Given the description of an element on the screen output the (x, y) to click on. 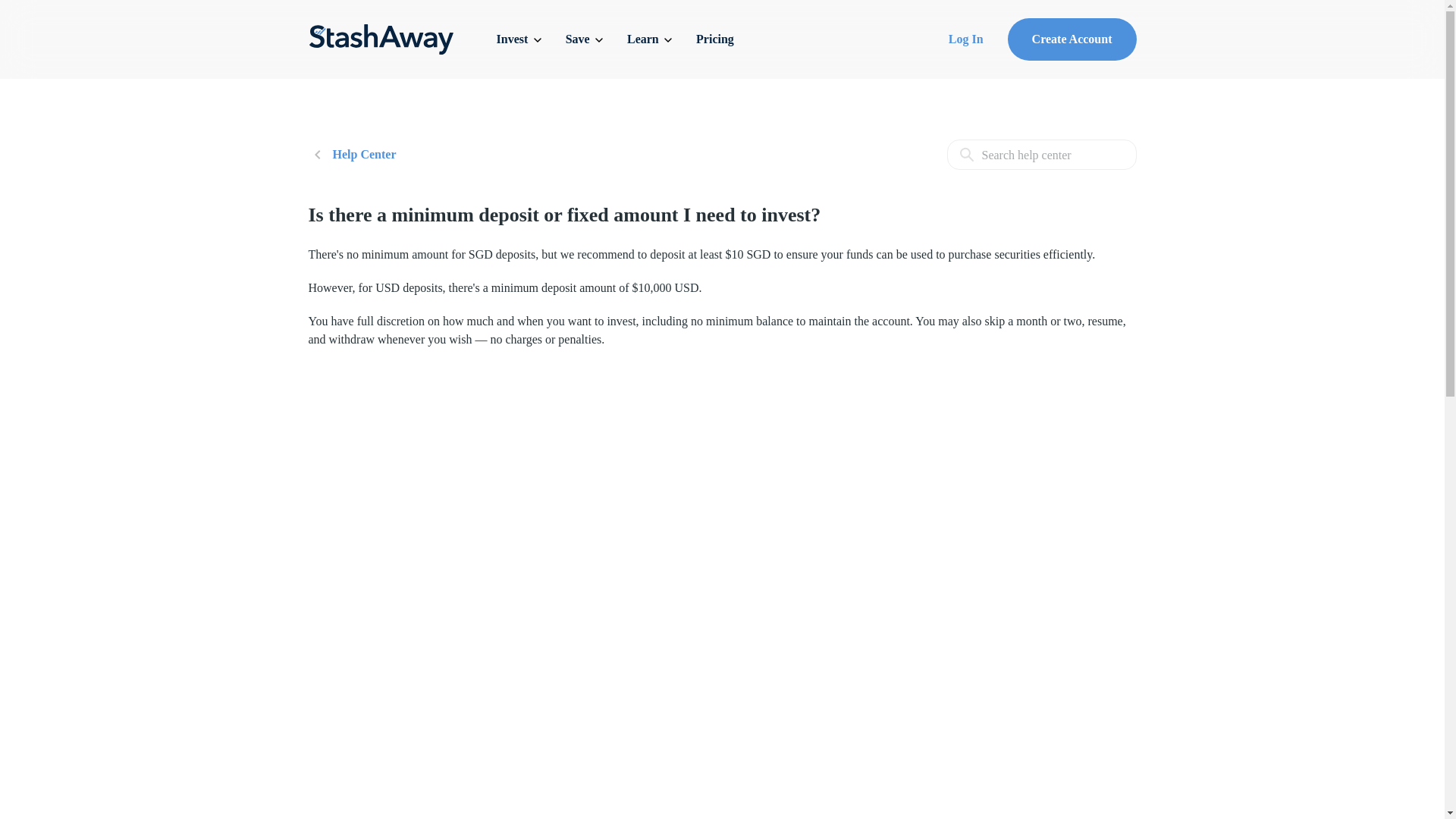
Create Account (1072, 39)
Help Center (351, 154)
Pricing (714, 38)
Log In (965, 39)
